Given the description of an element on the screen output the (x, y) to click on. 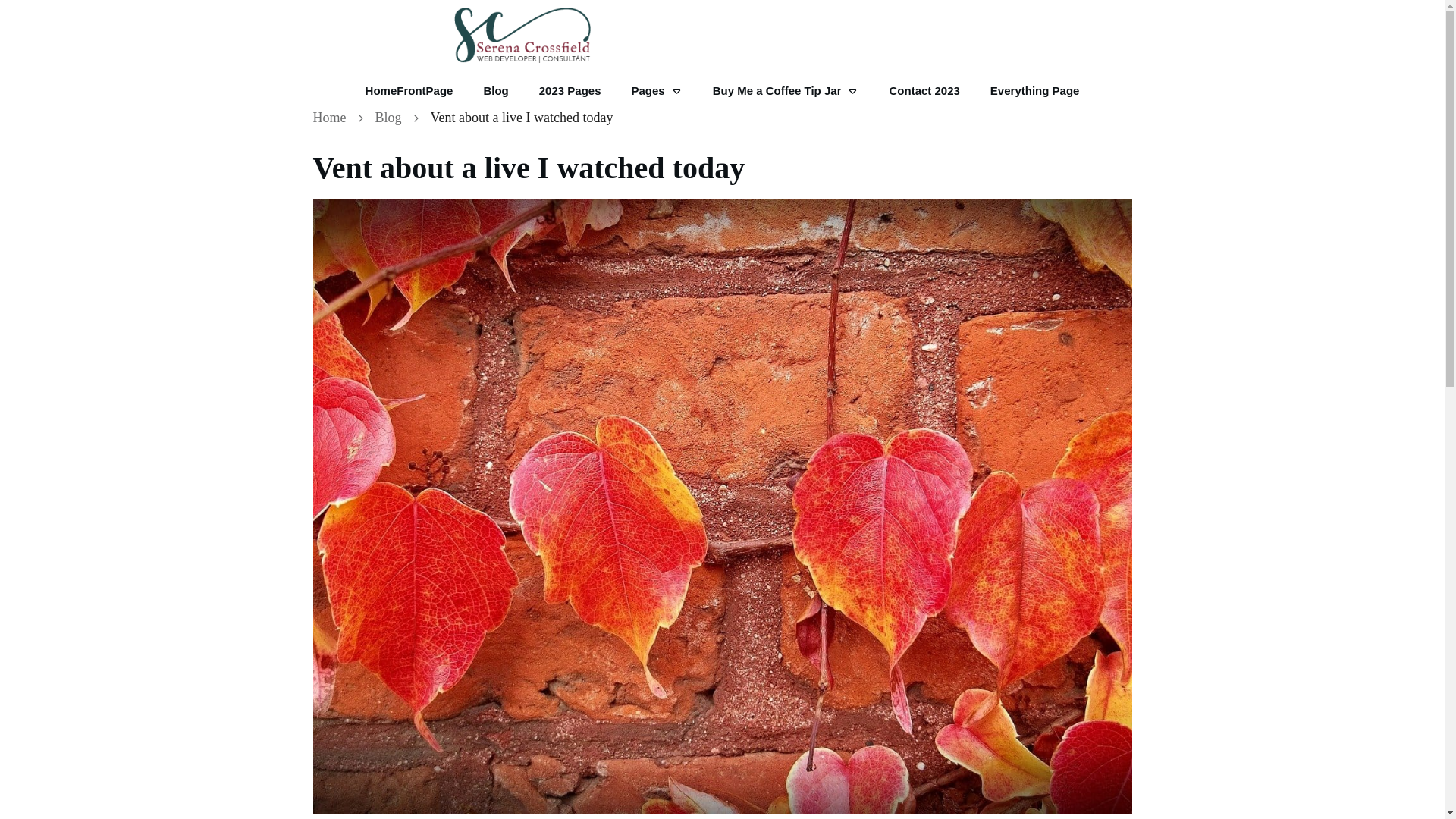
Blog (495, 90)
Vent about a live I watched today (528, 167)
Pages (655, 90)
Vent about a live I watched today (528, 167)
Everything Page (1035, 90)
Blog (387, 117)
Home (329, 117)
Contact 2023 (923, 90)
HomeFrontPage (408, 90)
Buy Me a Coffee Tip Jar (786, 90)
2023 Pages (569, 90)
